Given the description of an element on the screen output the (x, y) to click on. 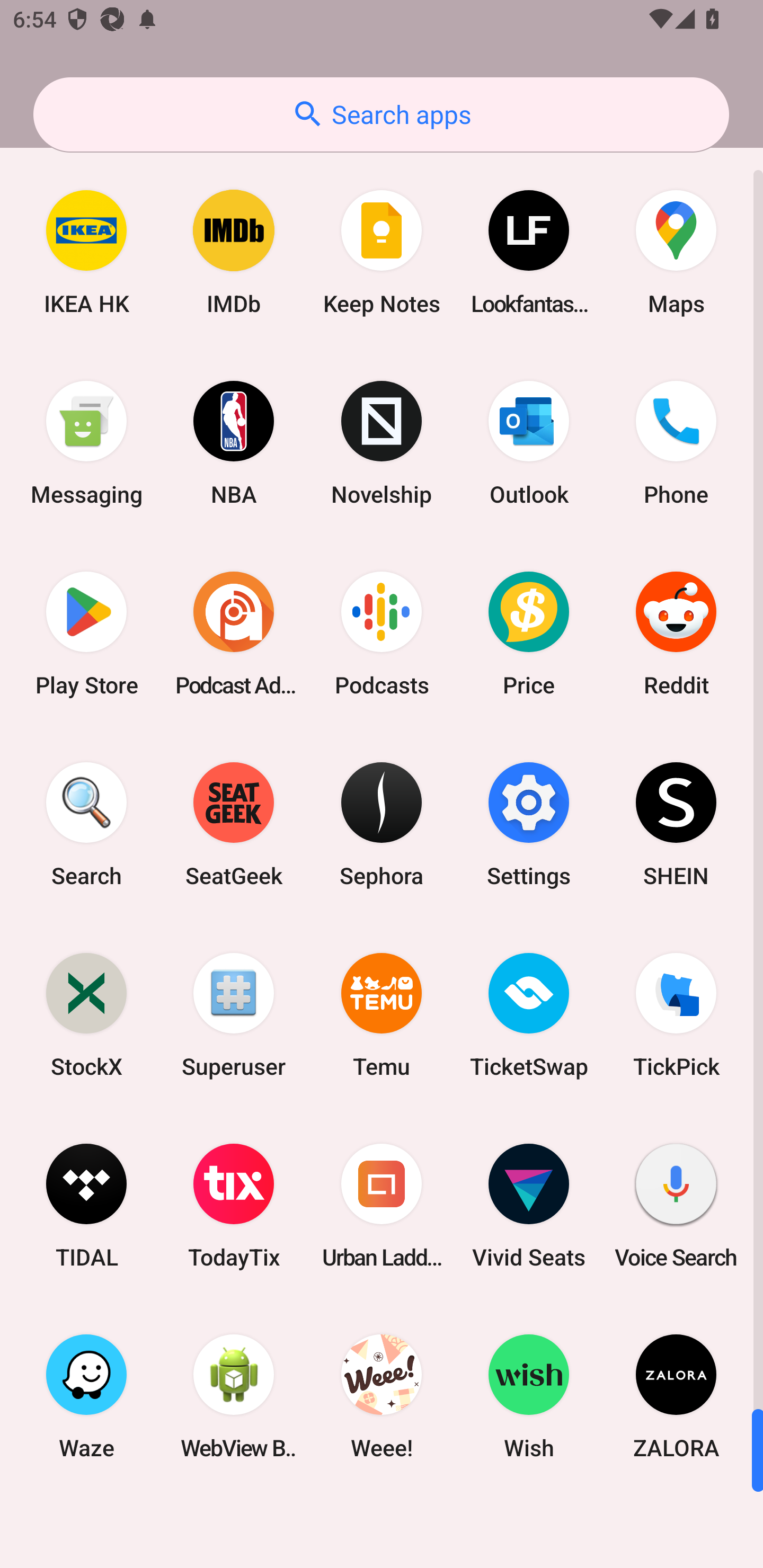
  Search apps (381, 114)
IKEA HK (86, 252)
IMDb (233, 252)
Keep Notes (381, 252)
Lookfantastic (528, 252)
Maps (676, 252)
Messaging (86, 442)
NBA (233, 442)
Novelship (381, 442)
Outlook (528, 442)
Phone (676, 442)
Play Store (86, 633)
Podcast Addict (233, 633)
Podcasts (381, 633)
Price (528, 633)
Reddit (676, 633)
Search (86, 823)
SeatGeek (233, 823)
Sephora (381, 823)
Settings (528, 823)
SHEIN (676, 823)
StockX (86, 1014)
Superuser (233, 1014)
Temu (381, 1014)
TicketSwap (528, 1014)
TickPick (676, 1014)
TIDAL (86, 1205)
TodayTix (233, 1205)
Urban Ladder (381, 1205)
Vivid Seats (528, 1205)
Voice Search (676, 1205)
Waze (86, 1396)
WebView Browser Tester (233, 1396)
Weee! (381, 1396)
Wish (528, 1396)
ZALORA (676, 1396)
